Given the description of an element on the screen output the (x, y) to click on. 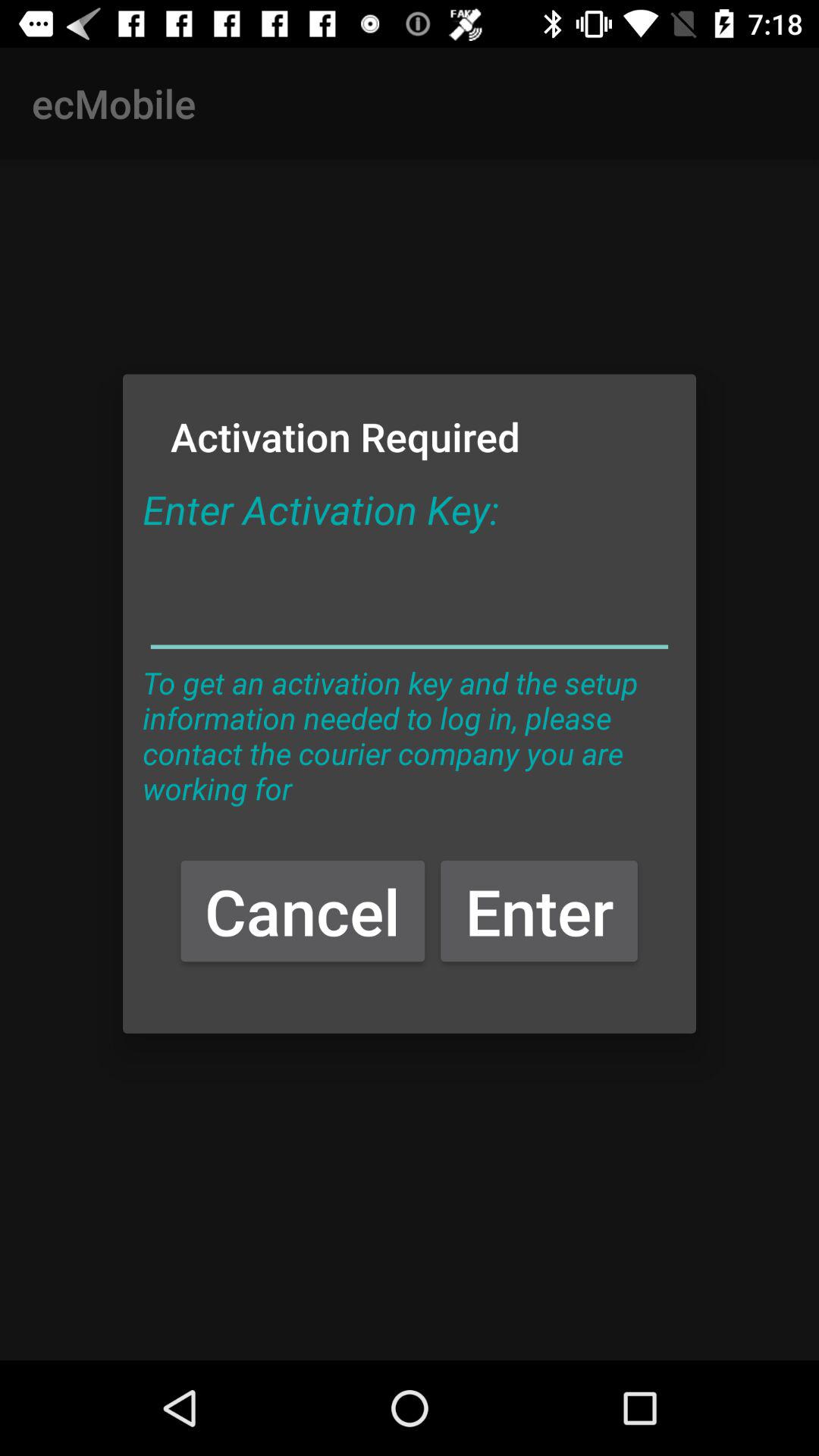
tap button next to enter item (302, 910)
